Given the description of an element on the screen output the (x, y) to click on. 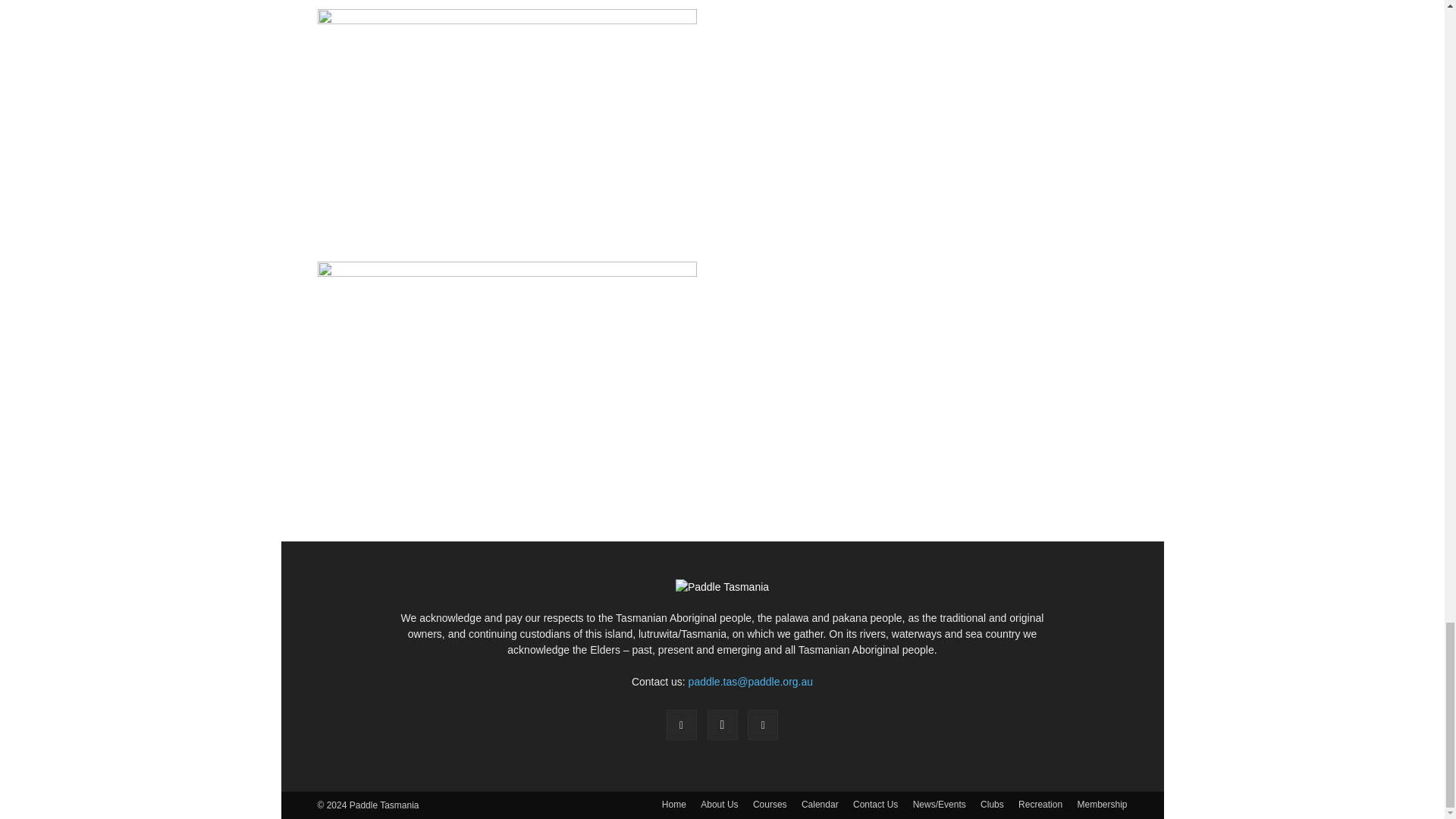
Youtube (762, 725)
Sea kayaking course, Flinders Island (506, 4)
Facebook (681, 725)
Ginni Callahan, Sea kayak Instructor Workshop, Hobart (506, 135)
Sea Kayak Skills Course, Narawntapu National Park (506, 387)
Instagram (721, 725)
